Given the description of an element on the screen output the (x, y) to click on. 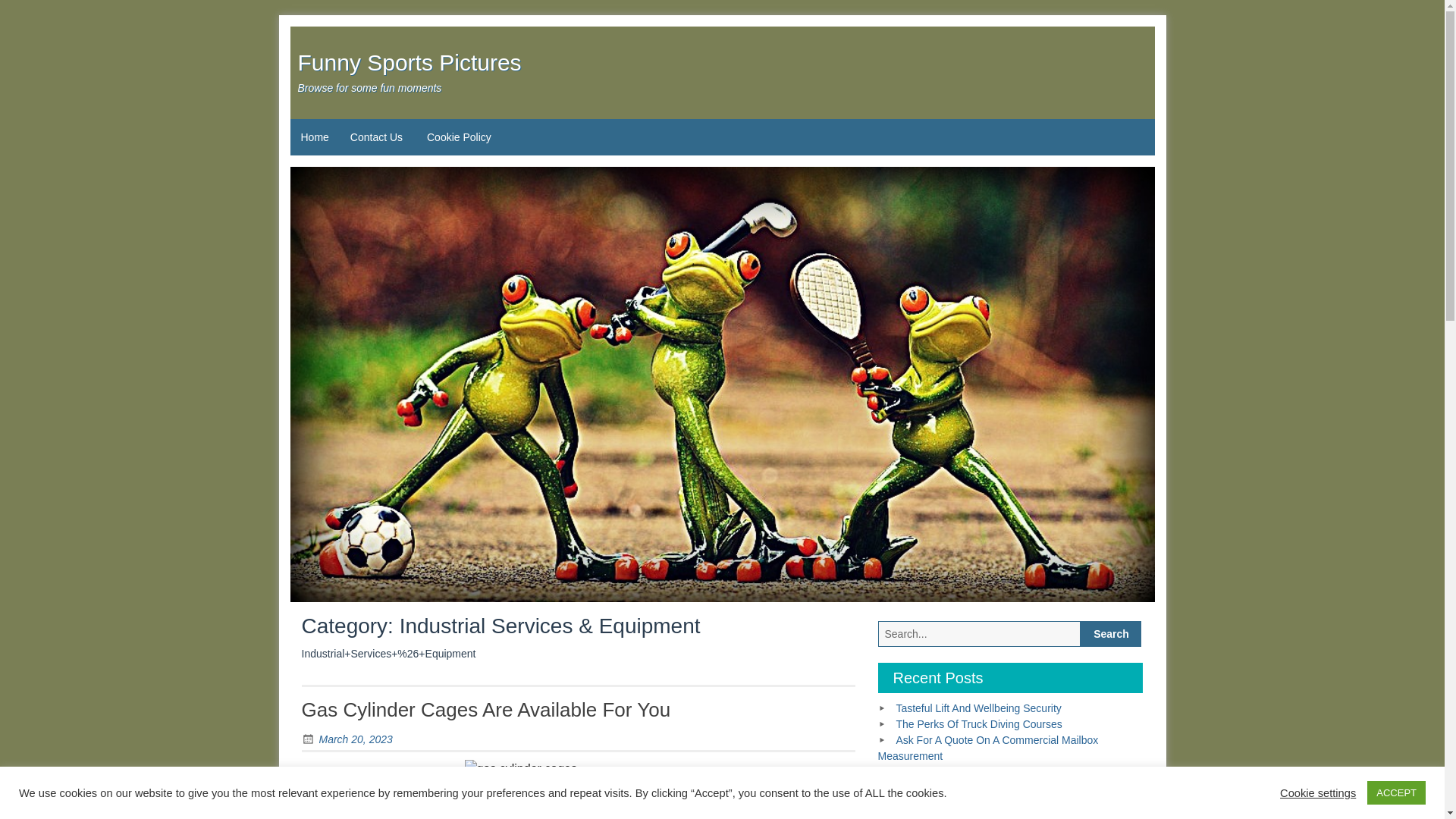
March 20, 2023 (347, 739)
Contact Us (376, 136)
Funny Sports Pictures (409, 62)
Search (1110, 633)
The Perks Of Truck Diving Courses (978, 724)
Tasteful Lift And Wellbeing Security (978, 707)
The Best Timber Floor Fix Administrations In Australia (991, 808)
Cookie Policy (459, 136)
gas cylinder cages (577, 789)
Search (1110, 633)
Ask For A Quote On A Commercial Mailbox Measurement (988, 747)
Search (1110, 633)
Search for: (979, 633)
Home (314, 136)
